Given the description of an element on the screen output the (x, y) to click on. 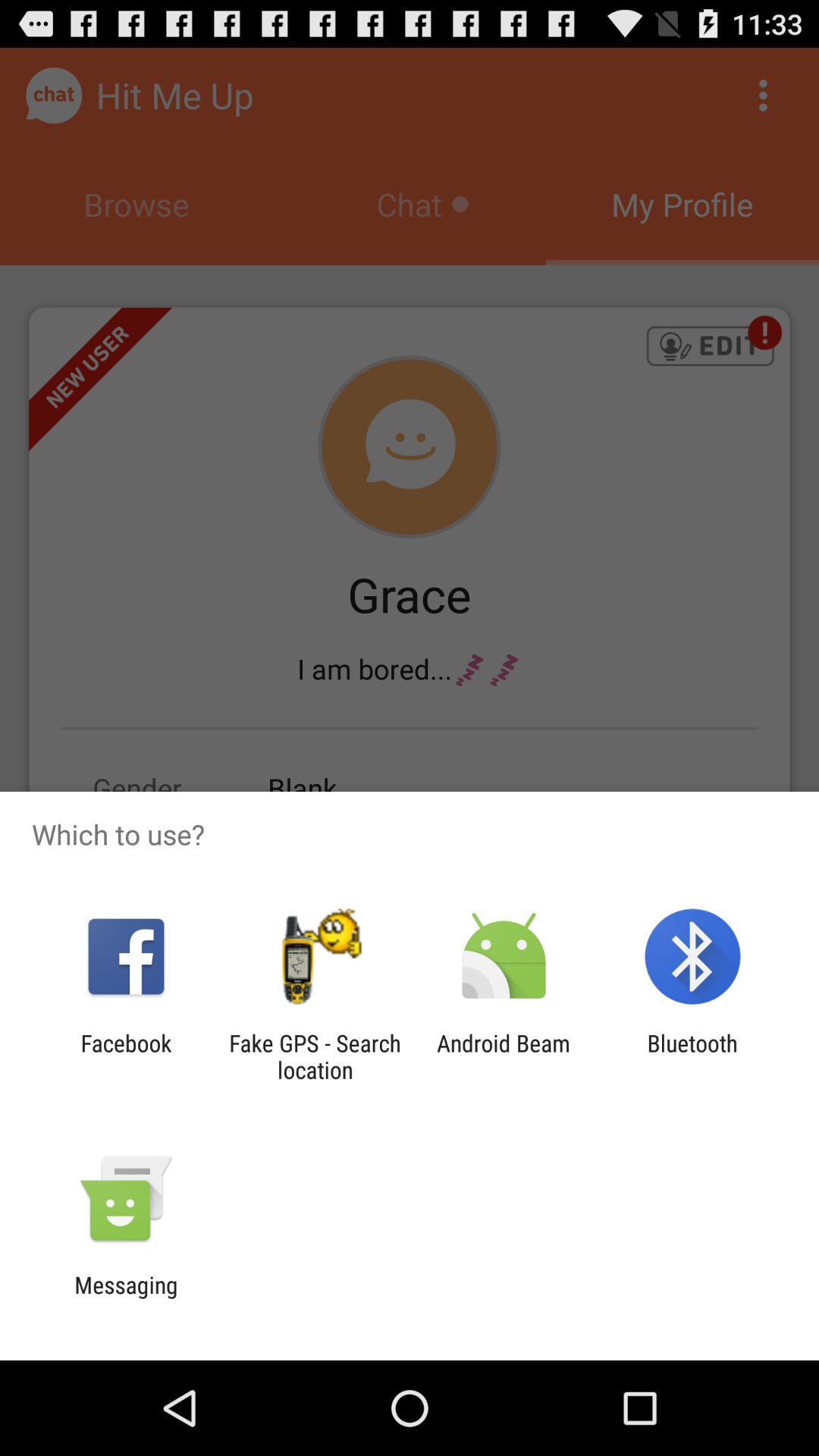
jump until messaging icon (126, 1298)
